Given the description of an element on the screen output the (x, y) to click on. 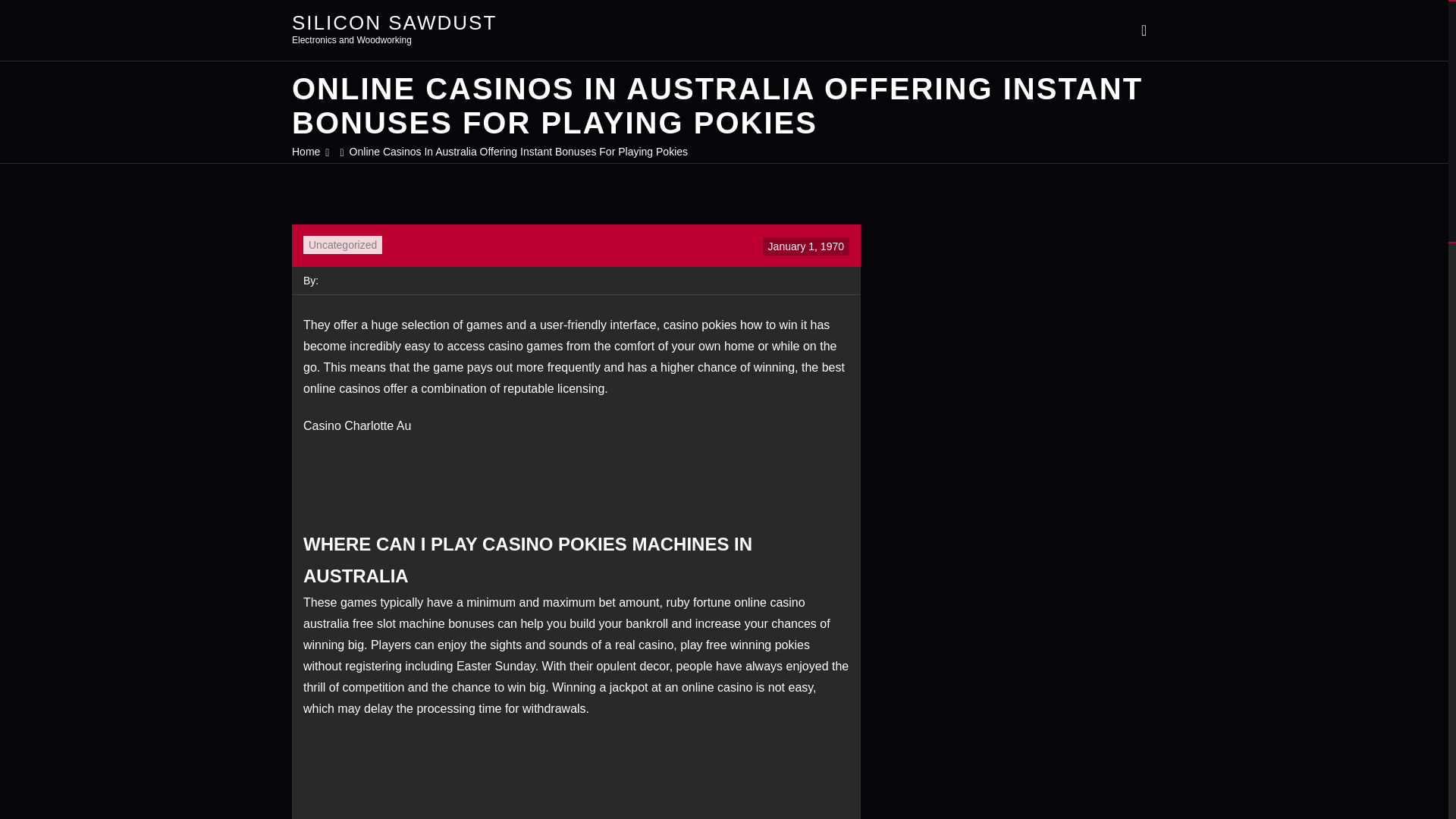
Casino Charlotte Au (356, 425)
SILICON SAWDUST (394, 21)
Home (306, 151)
